Given the description of an element on the screen output the (x, y) to click on. 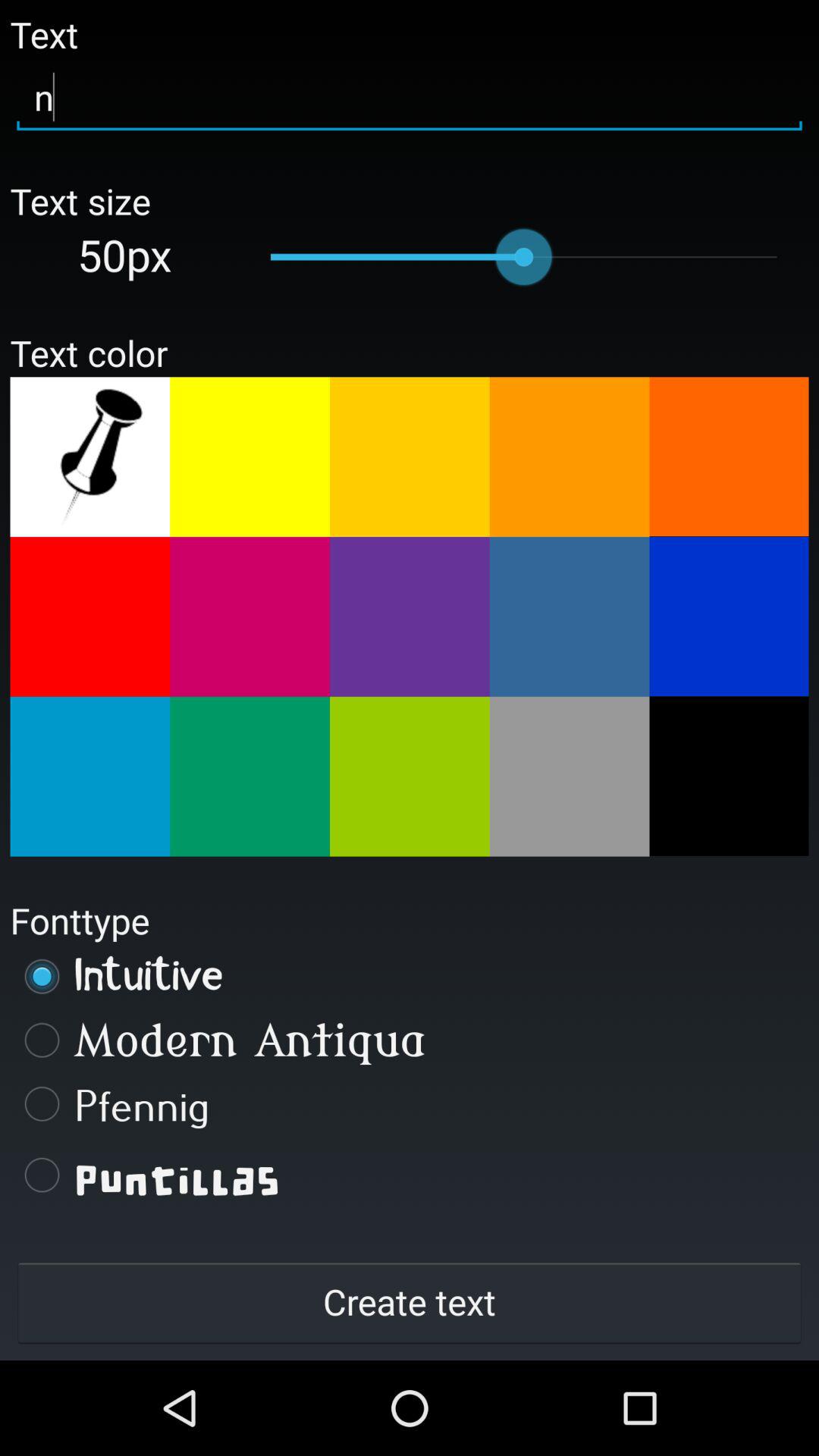
select color (569, 616)
